Given the description of an element on the screen output the (x, y) to click on. 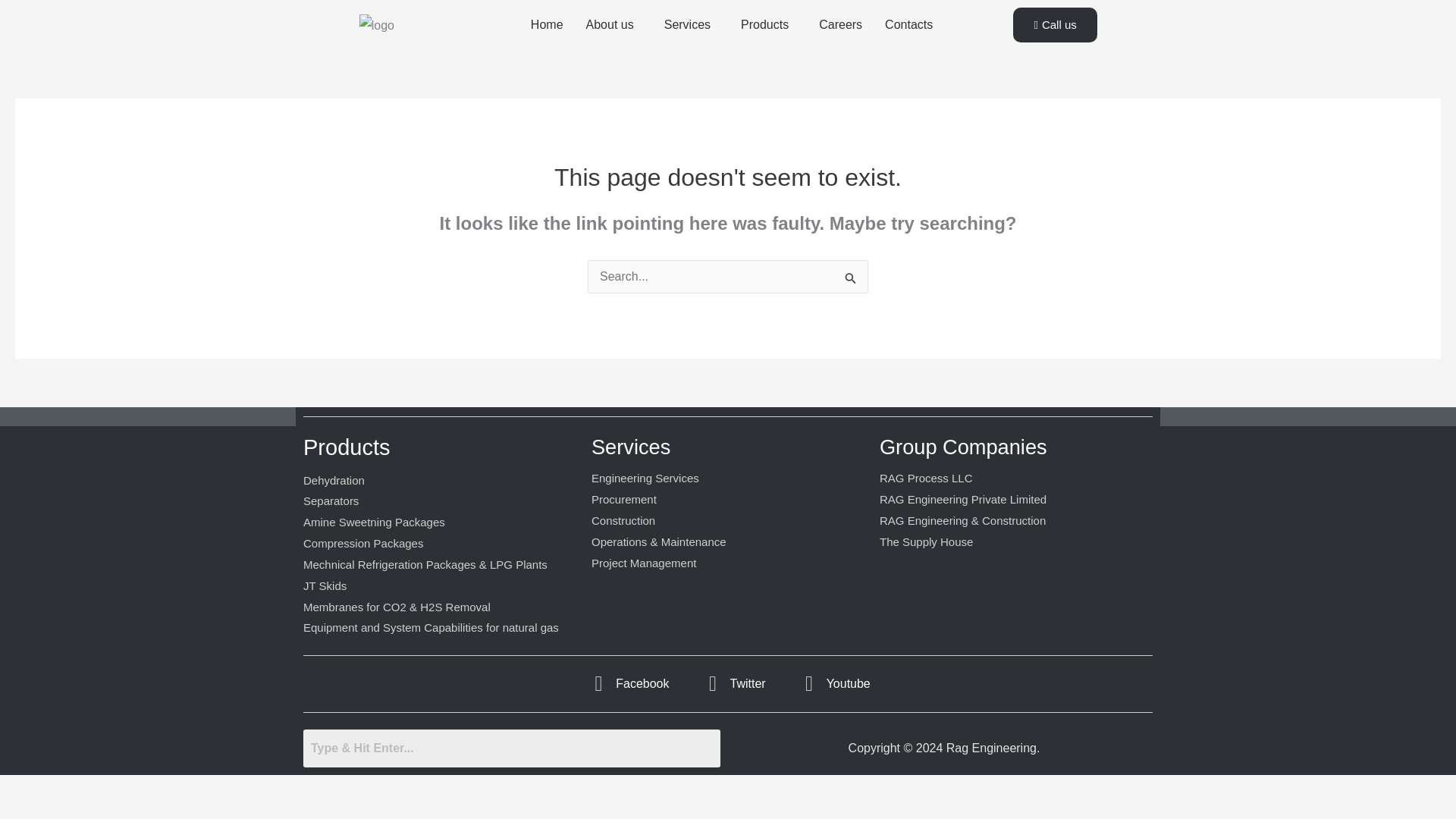
logo (376, 25)
Search (511, 748)
Contacts (908, 24)
About us (613, 24)
Home (547, 24)
Services (690, 24)
Careers (840, 24)
Products (768, 24)
Call us (1054, 24)
